Given the description of an element on the screen output the (x, y) to click on. 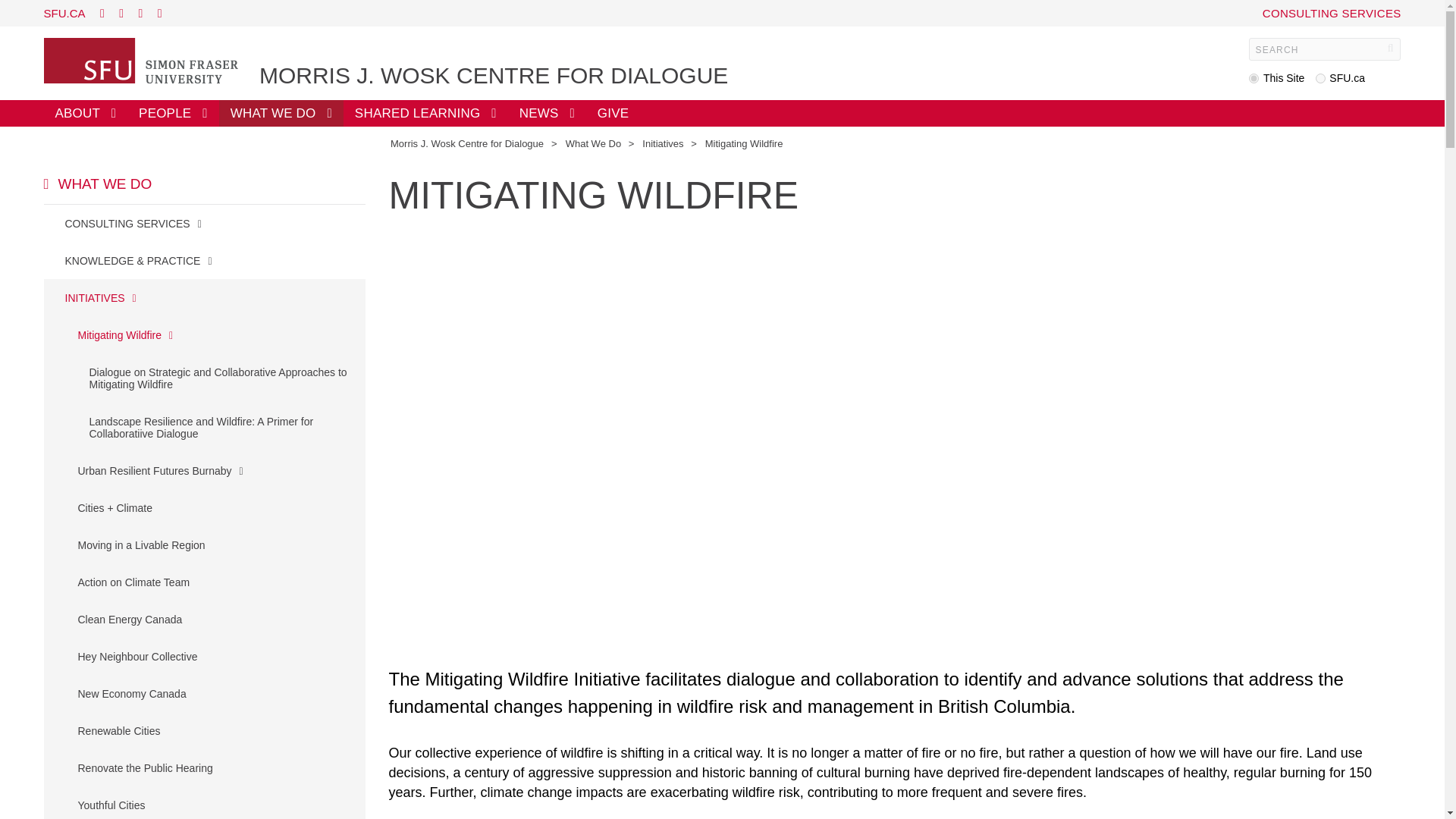
MORRIS J. WOSK CENTRE FOR DIALOGUE (493, 75)
GIVE (613, 112)
sfu (1320, 78)
PEOPLE (173, 112)
site (1254, 78)
What We Do (593, 143)
CONSULTING SERVICES (1331, 11)
SFU.CA (64, 11)
Consulting Services (1331, 11)
SHARED LEARNING (425, 112)
WHAT WE DO (281, 112)
Morris J. Wosk Centre for Dialogue (466, 143)
NEWS (547, 112)
ABOUT (85, 112)
